Given the description of an element on the screen output the (x, y) to click on. 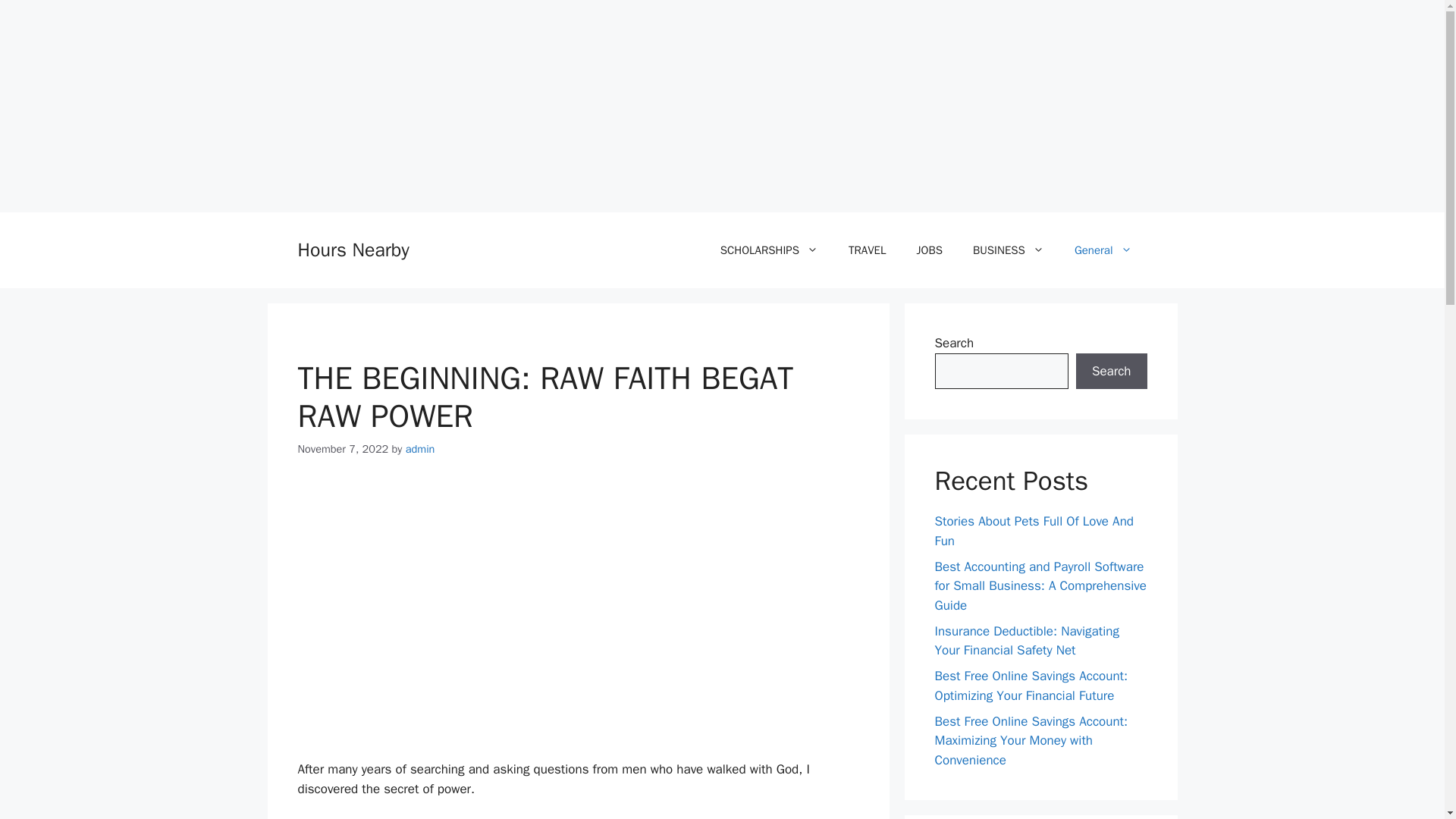
General (1103, 249)
TRAVEL (866, 249)
BUSINESS (1008, 249)
SCHOLARSHIPS (768, 249)
Hours Nearby (353, 249)
Advertisement (578, 590)
admin (420, 448)
JOBS (928, 249)
View all posts by admin (420, 448)
